Given the description of an element on the screen output the (x, y) to click on. 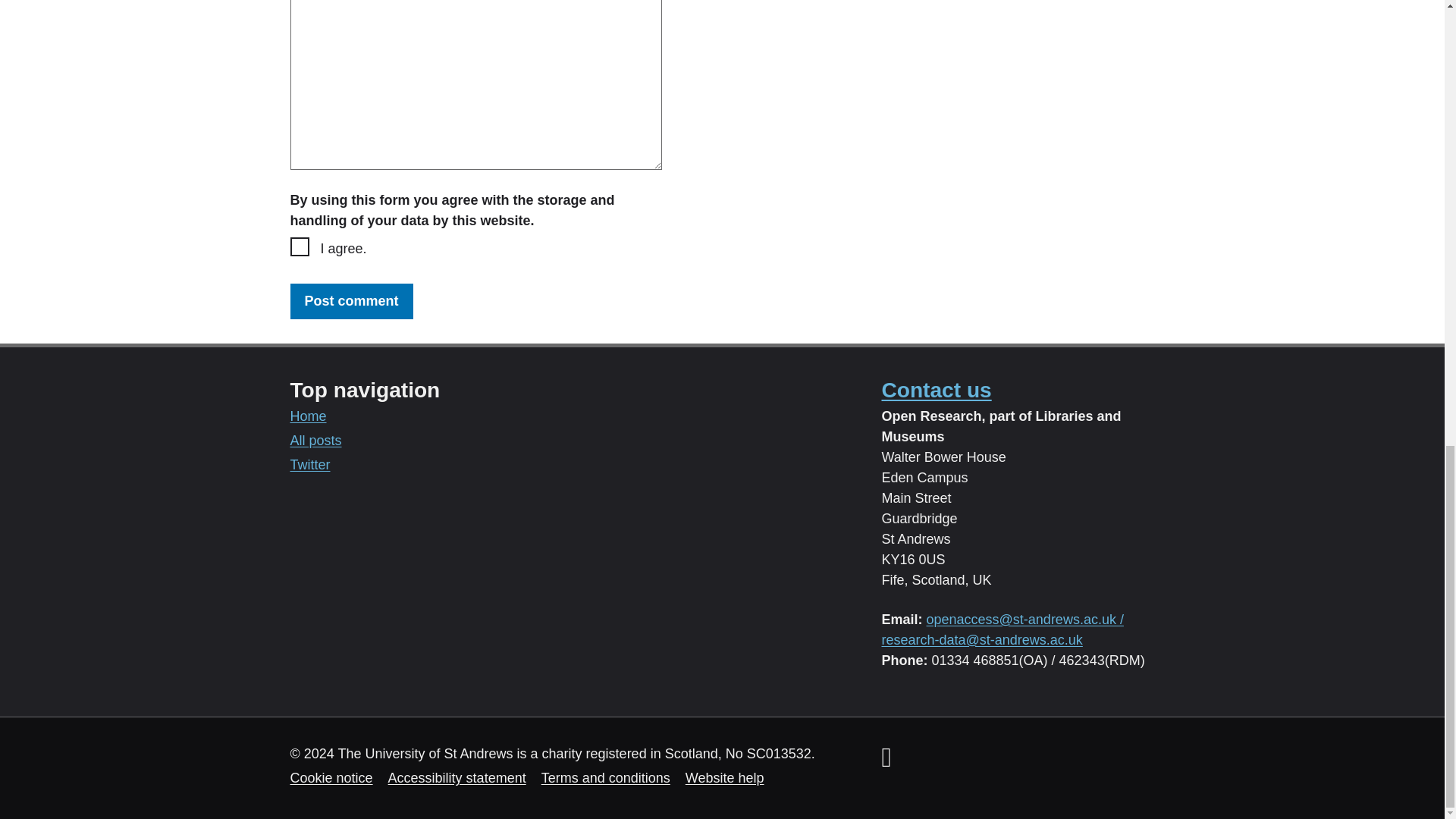
All posts (314, 440)
Terms and conditions (605, 777)
Accessibility statement (456, 777)
Post comment (350, 301)
Cookie notice (330, 777)
Twitter (309, 464)
Website help (724, 777)
Contact us (935, 390)
Home (307, 416)
